Given the description of an element on the screen output the (x, y) to click on. 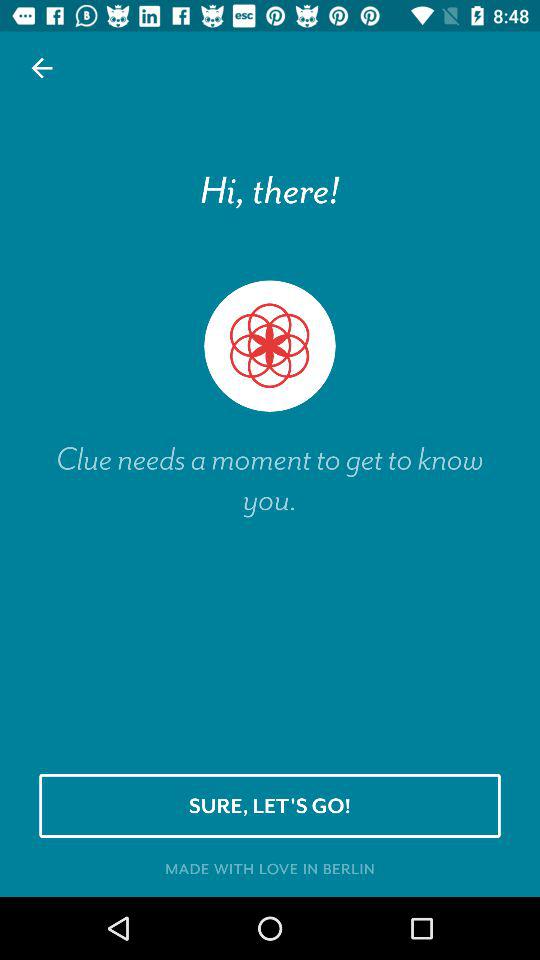
go back (42, 68)
